Given the description of an element on the screen output the (x, y) to click on. 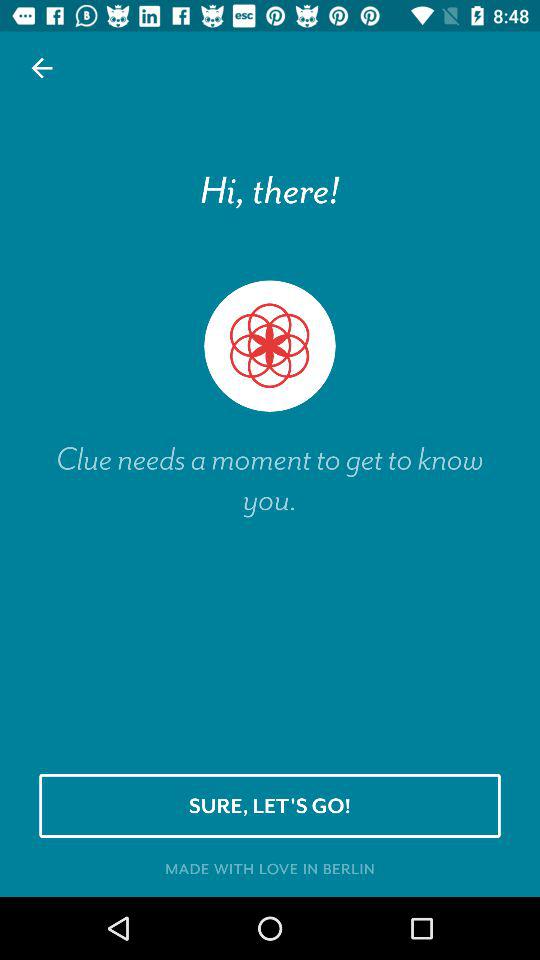
go back (42, 68)
